Given the description of an element on the screen output the (x, y) to click on. 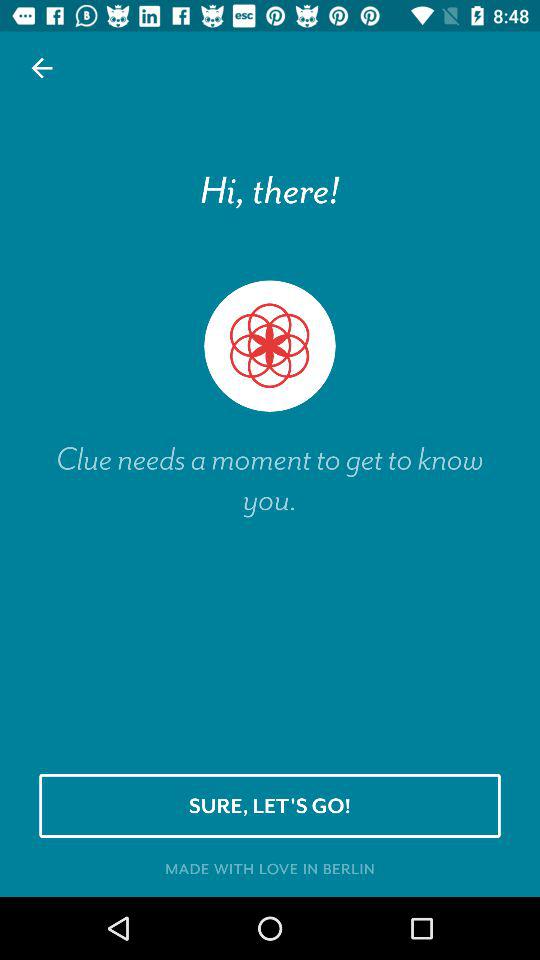
go back (42, 68)
